Given the description of an element on the screen output the (x, y) to click on. 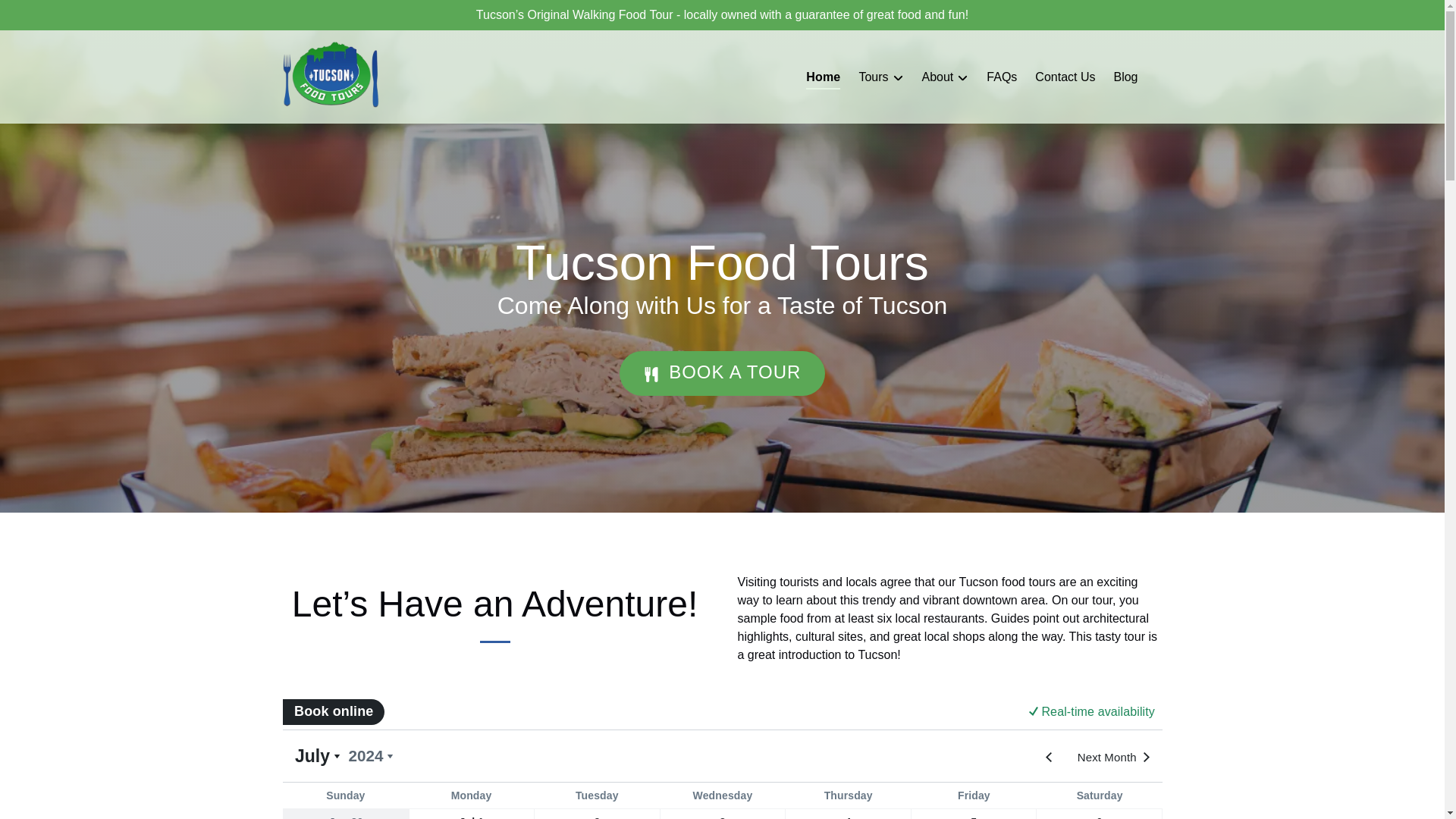
Blog (1125, 76)
Contact Us (1064, 76)
About (945, 76)
Skip to primary navigation (77, 16)
Skip to content (47, 16)
Open Tours Menu (884, 73)
FOOD (651, 374)
Open About Menu (949, 73)
Home (822, 76)
Skip to footer (42, 16)
FareHarbor (721, 756)
FAQs (1001, 76)
FOOD BOOK A TOUR (722, 328)
Tours (880, 76)
